Given the description of an element on the screen output the (x, y) to click on. 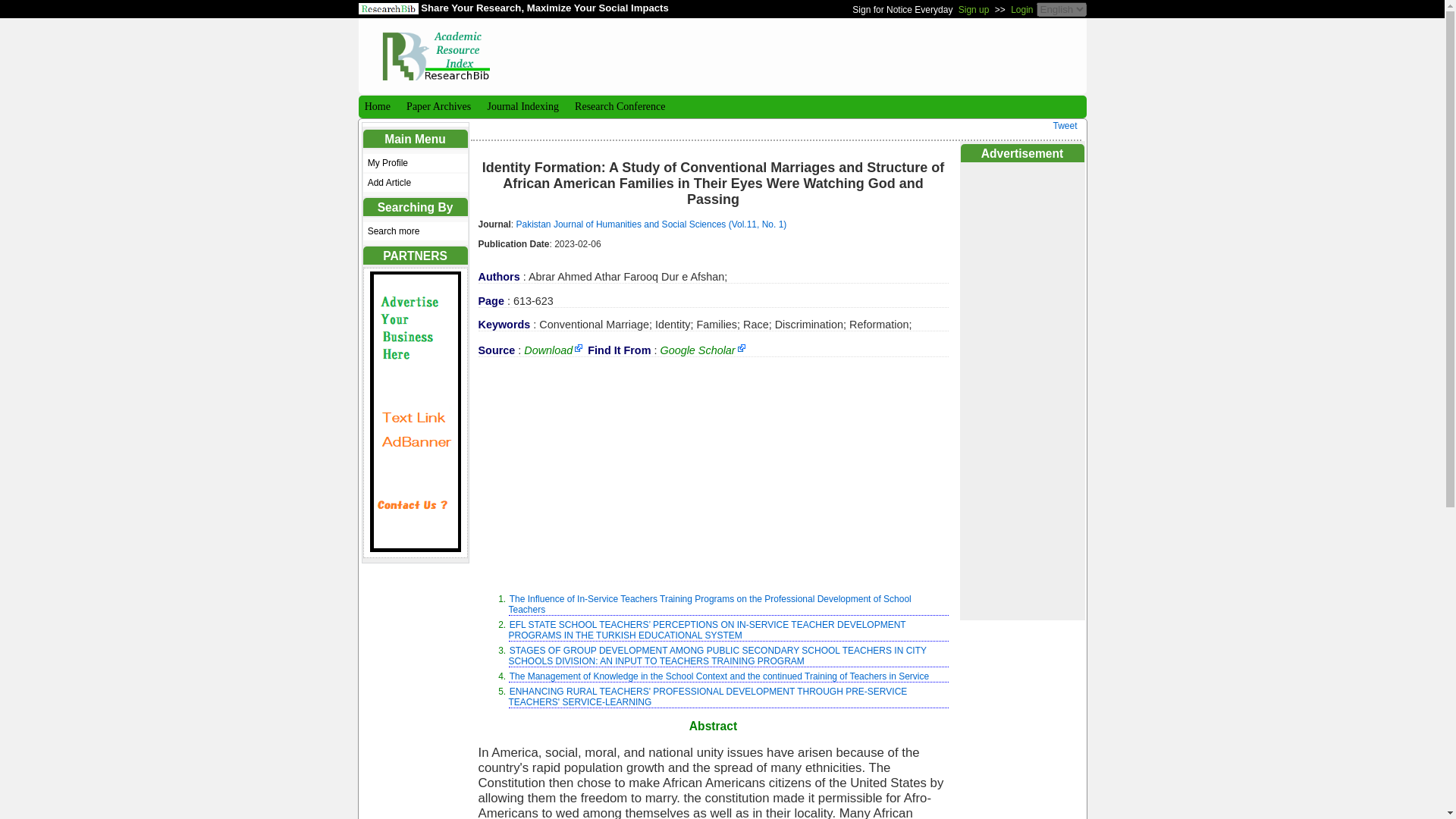
Journal Indexing (521, 106)
Sign up (973, 9)
Advertisement (803, 55)
Research Bible (435, 49)
Login (1021, 9)
Login (1021, 9)
ResearchBib (387, 8)
Search more (414, 230)
Paper Archives (437, 106)
Tweet (1064, 125)
Research Conference (619, 106)
Add Article (414, 182)
Sign up (973, 9)
